Given the description of an element on the screen output the (x, y) to click on. 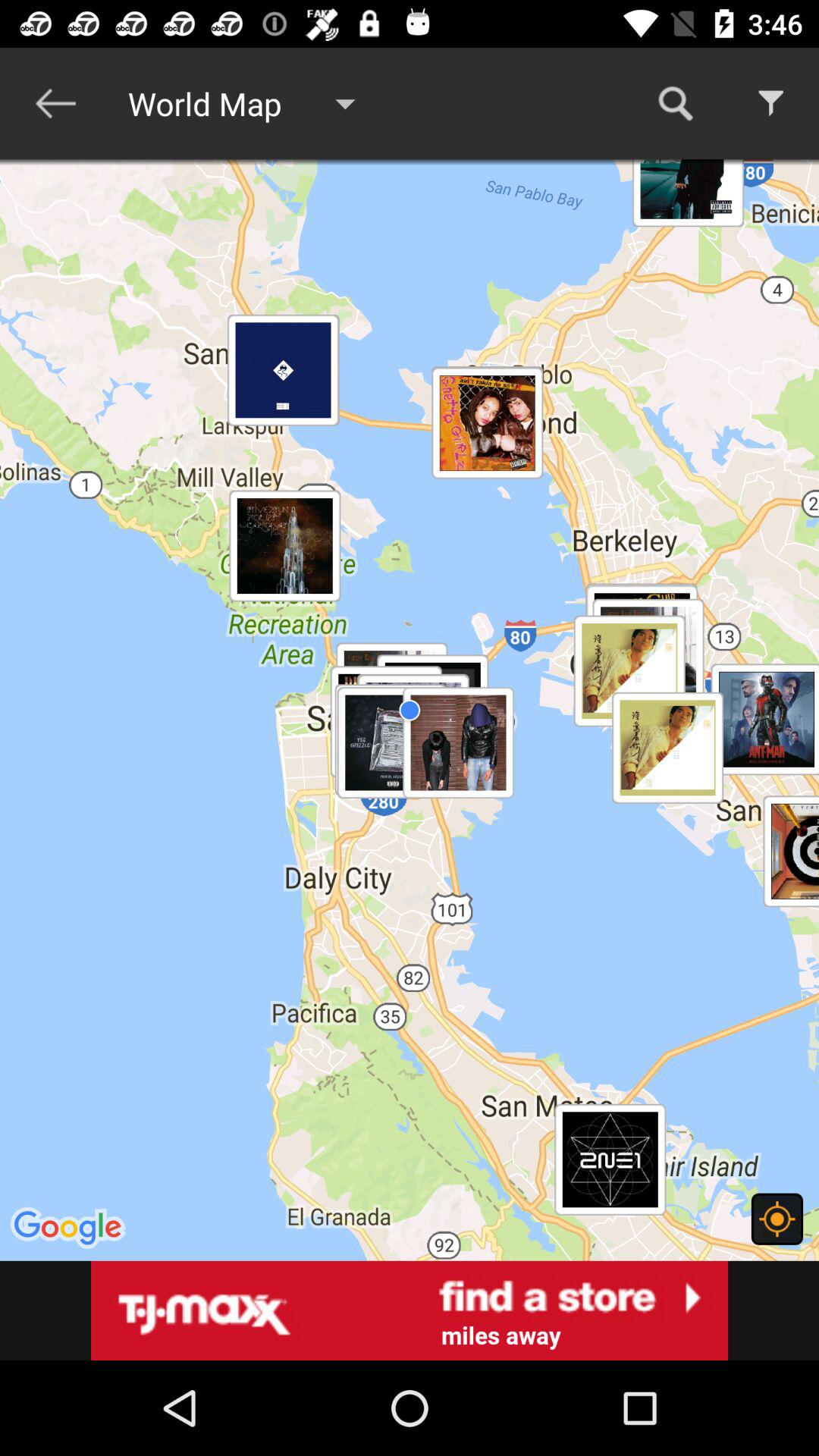
go to tj maxx website (409, 1310)
